Given the description of an element on the screen output the (x, y) to click on. 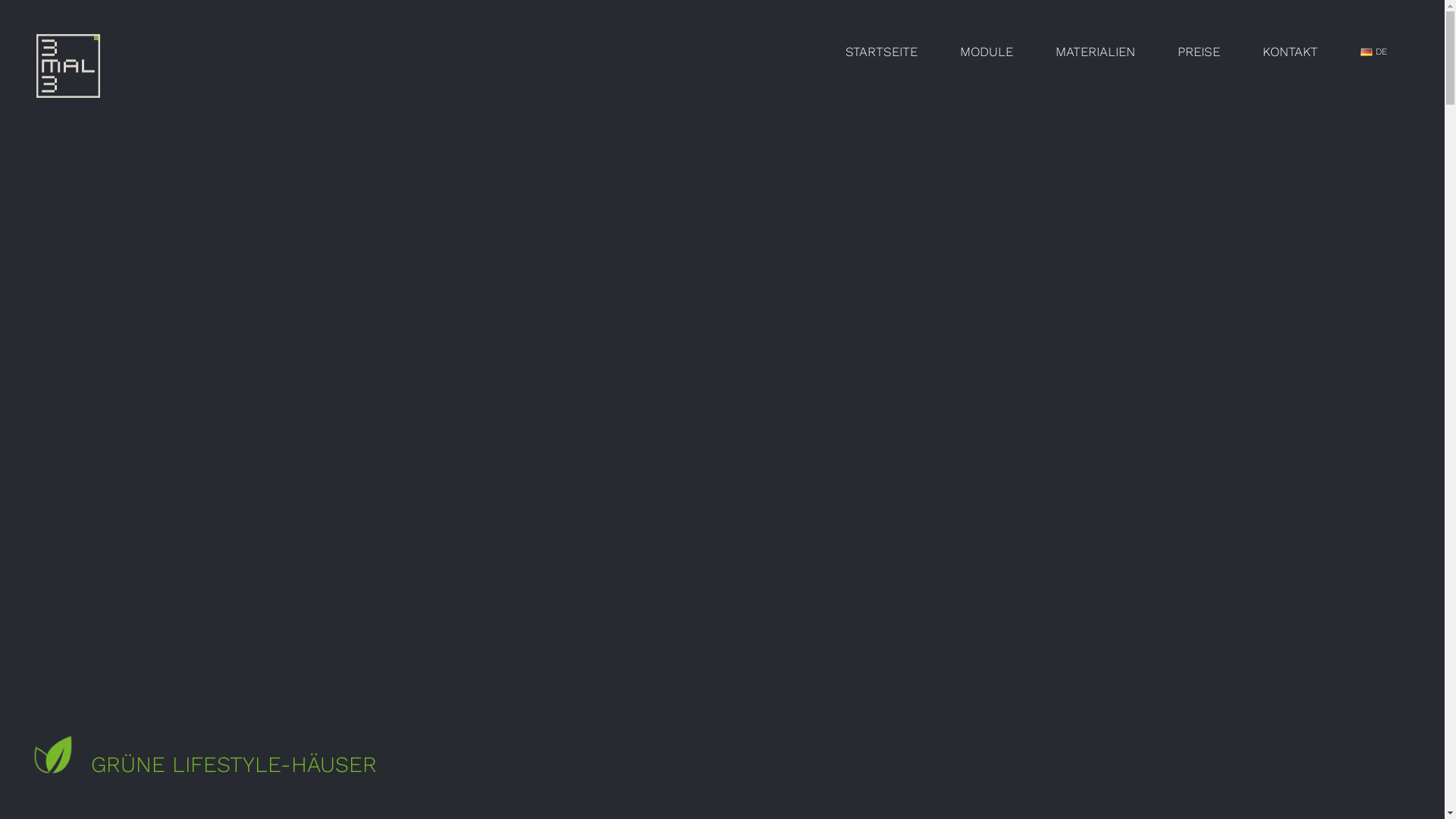
DE Element type: text (1373, 51)
MODULE Element type: text (986, 51)
PREISE Element type: text (1198, 51)
MATERIALIEN Element type: text (1095, 51)
KONTAKT Element type: text (1289, 51)
STARTSEITE Element type: text (881, 51)
